Given the description of an element on the screen output the (x, y) to click on. 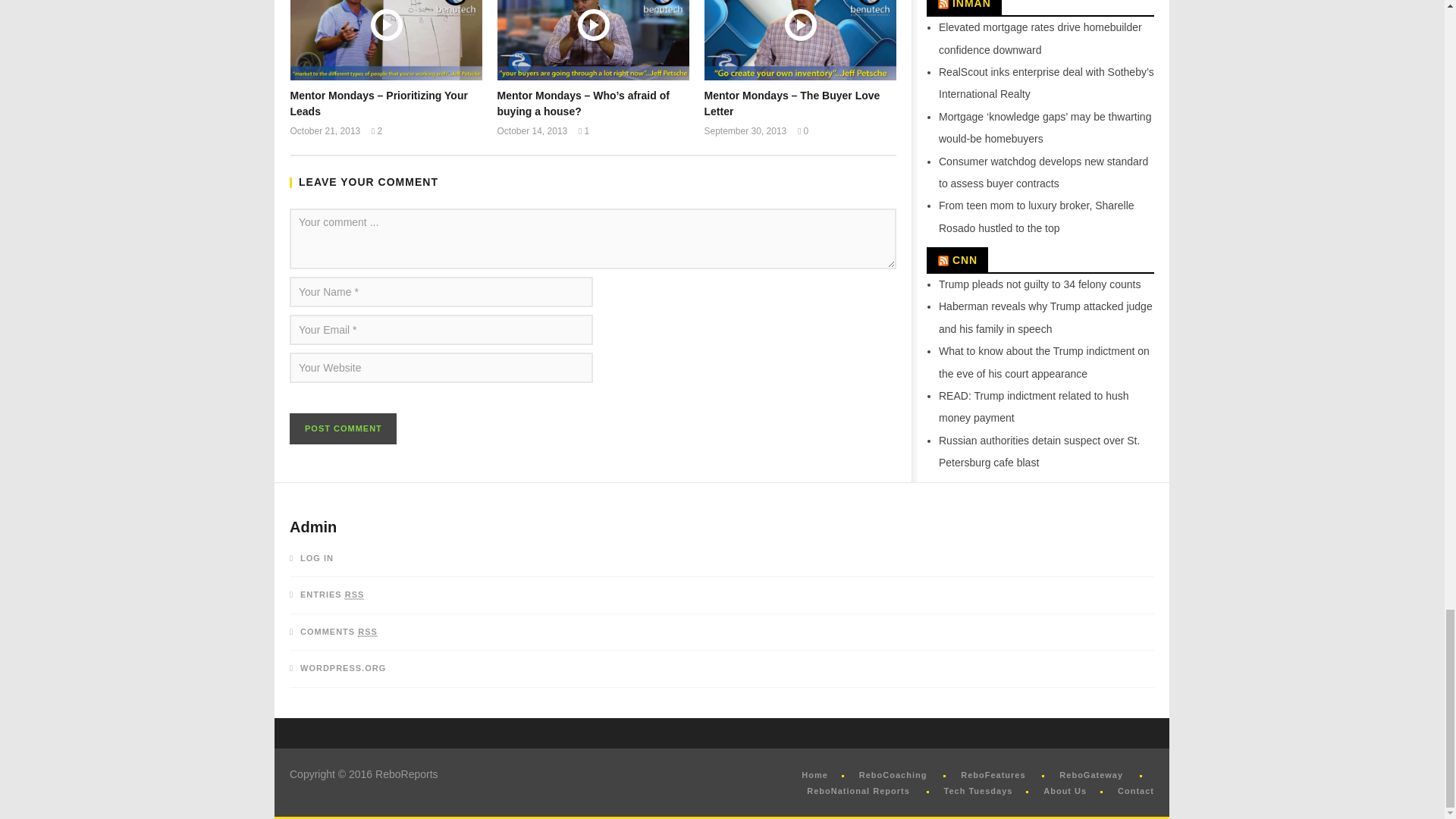
Post Comment (342, 428)
